Given the description of an element on the screen output the (x, y) to click on. 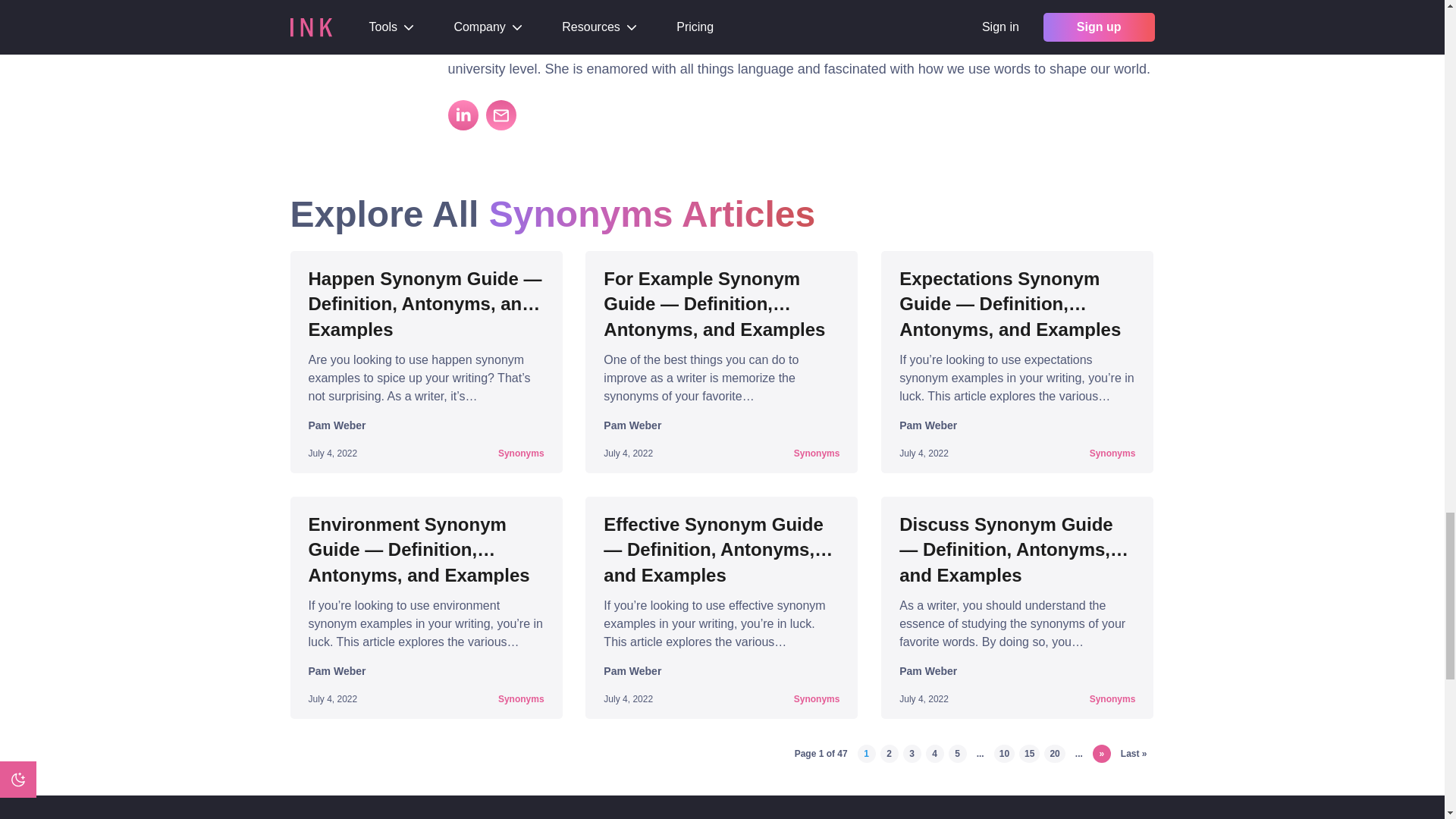
Page 20 (1053, 753)
Page 10 (1004, 753)
Email Pam Weber (499, 114)
Page 5 (957, 753)
Page 15 (1029, 753)
Page 2 (889, 753)
Pam Weber LinkedIn (461, 114)
Page 4 (934, 753)
Page 3 (911, 753)
